Given the description of an element on the screen output the (x, y) to click on. 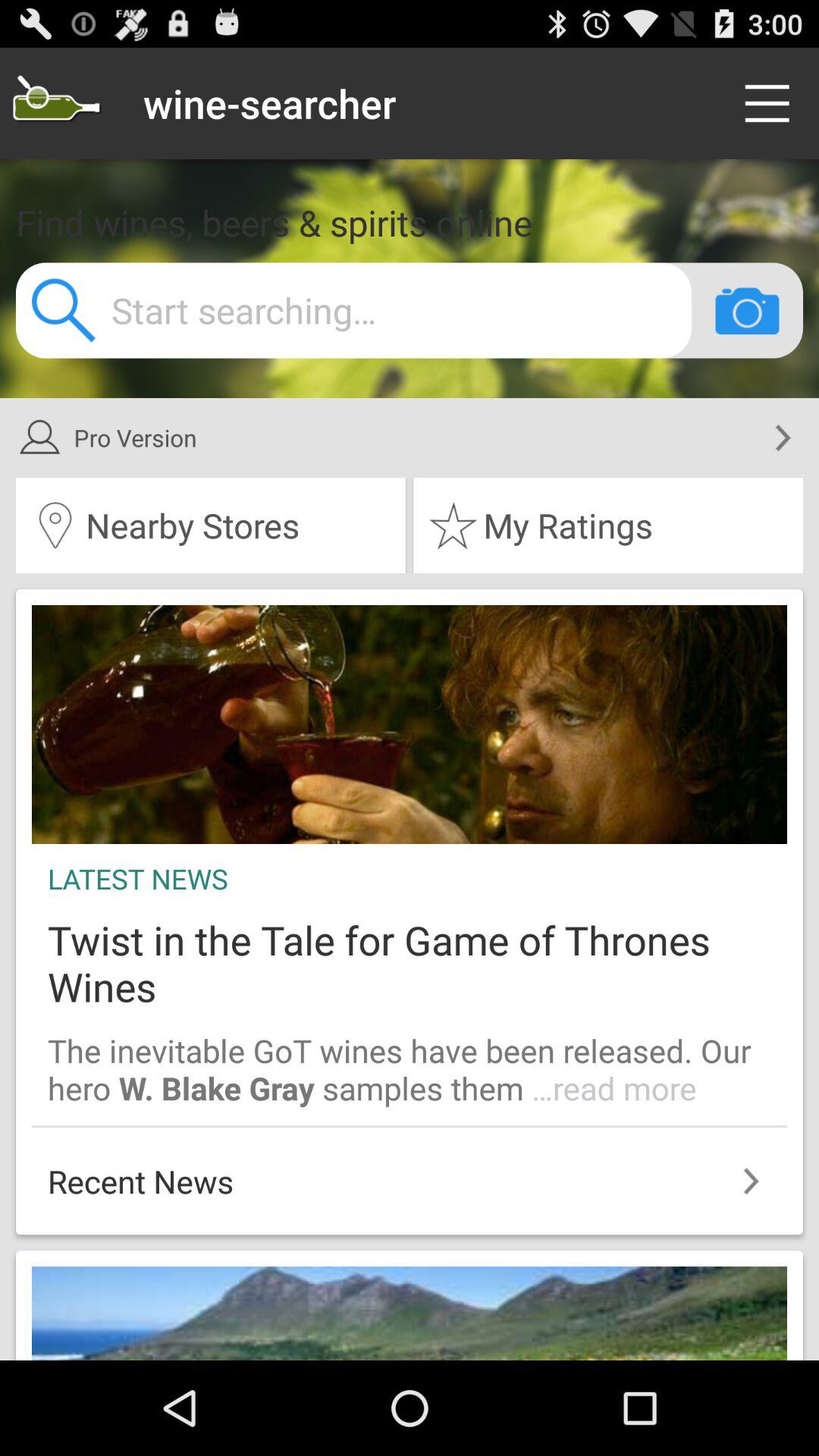
choose the icon above the pro version item (747, 310)
